Given the description of an element on the screen output the (x, y) to click on. 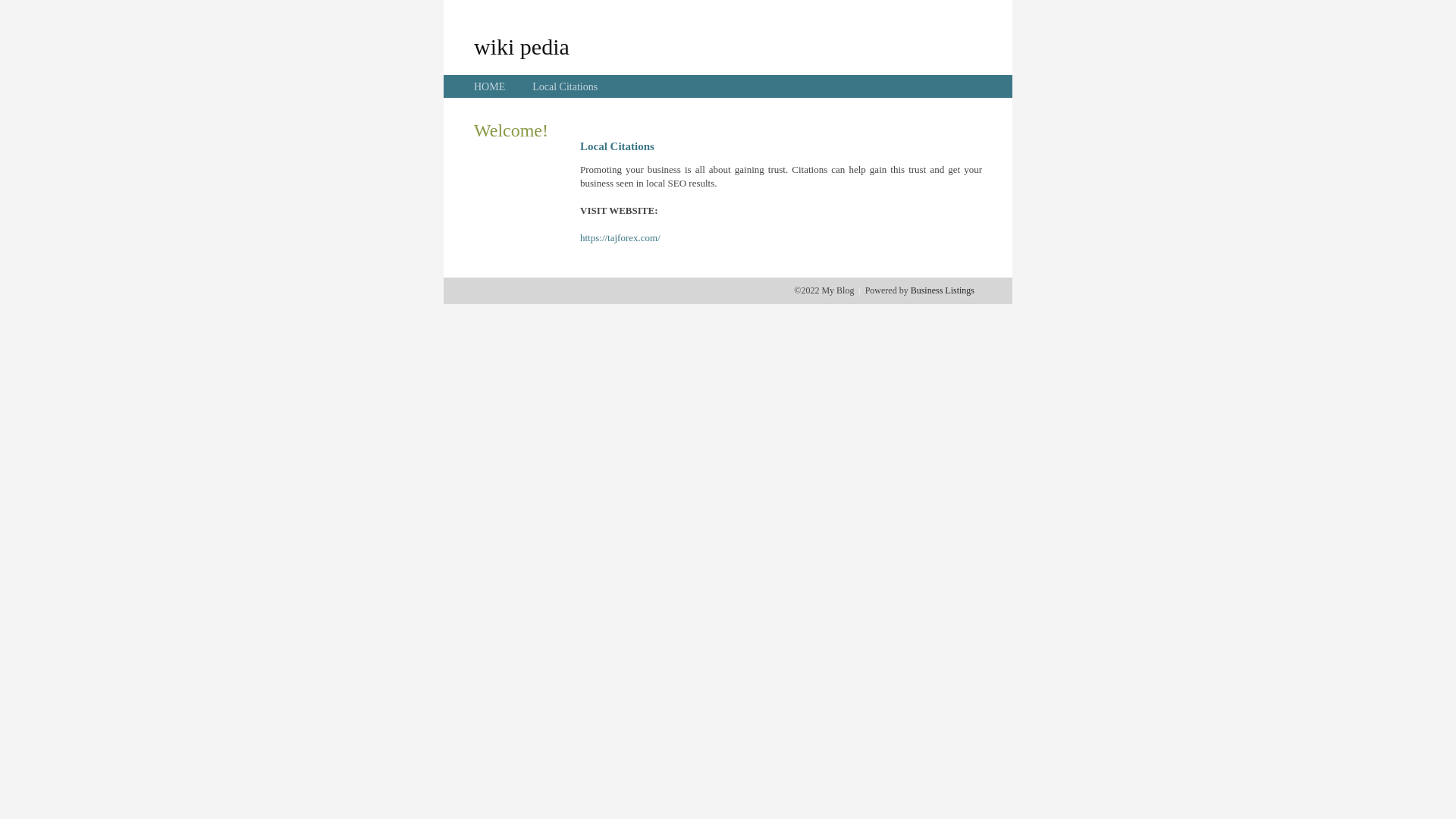
wiki pedia Element type: text (521, 46)
Local Citations Element type: text (564, 86)
Business Listings Element type: text (942, 290)
https://tajforex.com/ Element type: text (620, 237)
HOME Element type: text (489, 86)
